Given the description of an element on the screen output the (x, y) to click on. 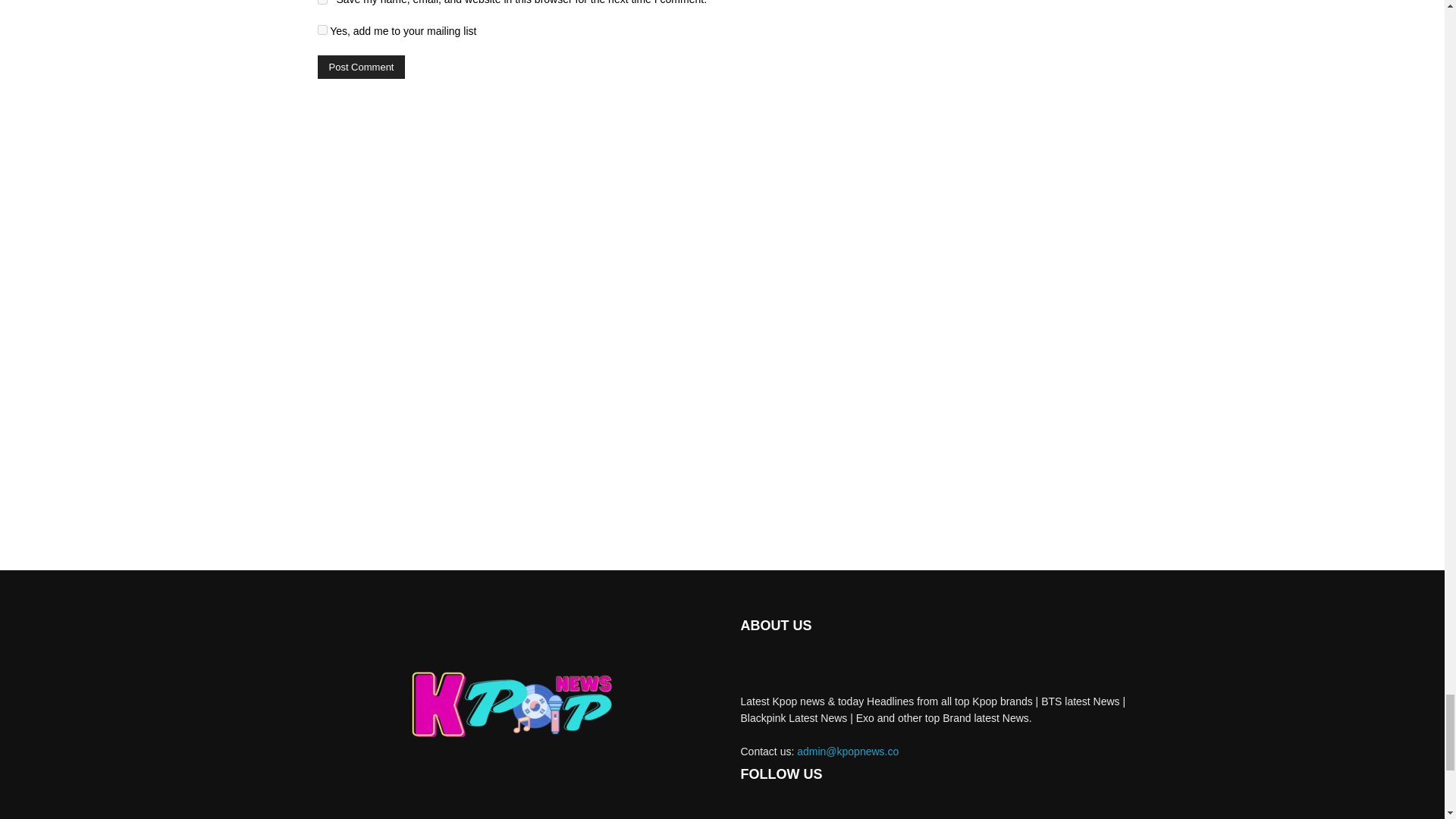
Post Comment (360, 66)
yes (321, 2)
1 (321, 30)
